Given the description of an element on the screen output the (x, y) to click on. 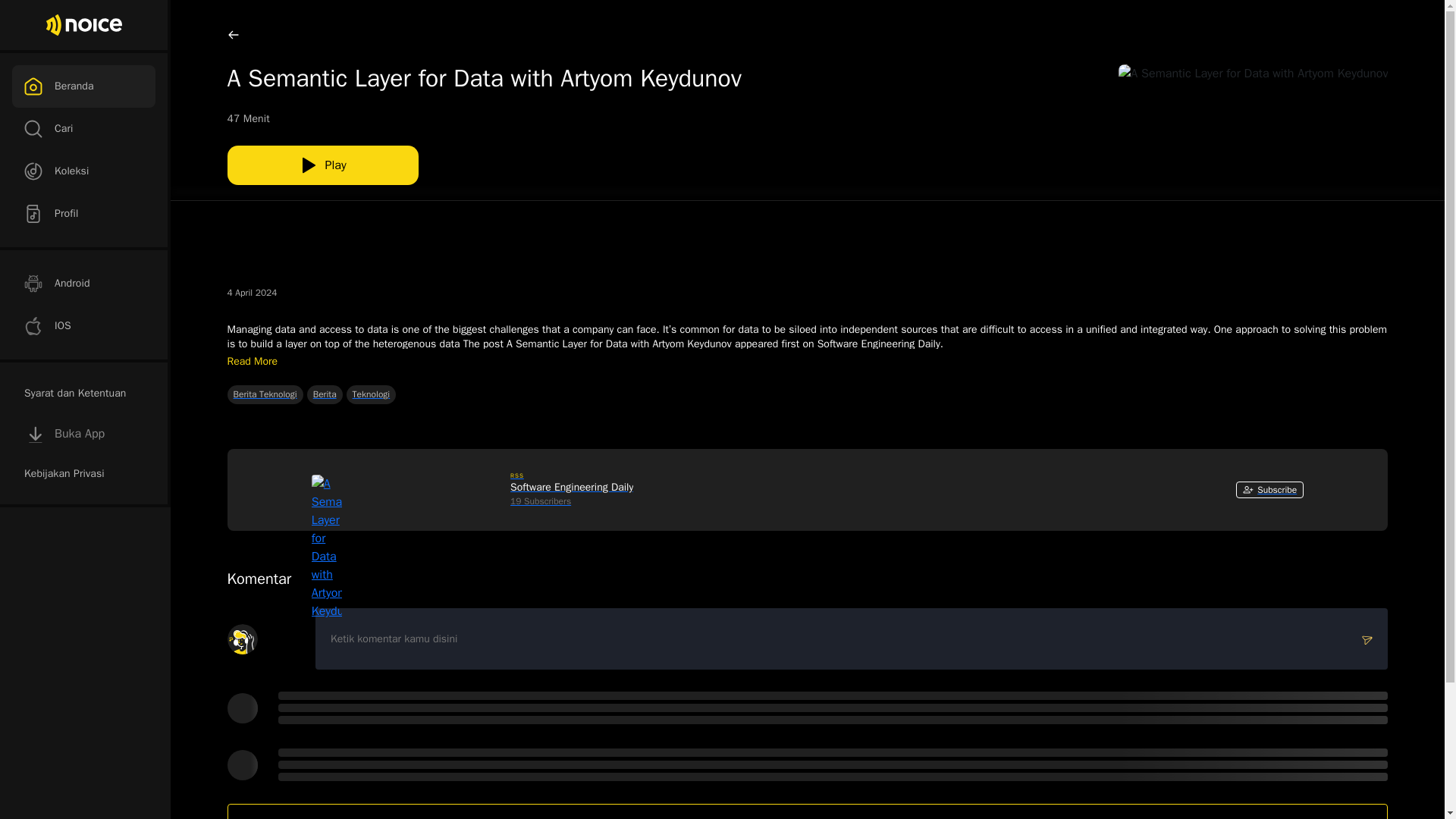
Syarat dan Ketentuan (83, 393)
Koleksi (83, 170)
Cari (83, 128)
Buka App (83, 433)
LIHAT EPISODE LAIN (808, 800)
Beranda (83, 86)
Read More (252, 361)
Kebijakan Privasi (83, 474)
Teknologi (83, 325)
Berita Teknologi (373, 394)
Android (267, 394)
Play (83, 283)
Profil (484, 161)
